Given the description of an element on the screen output the (x, y) to click on. 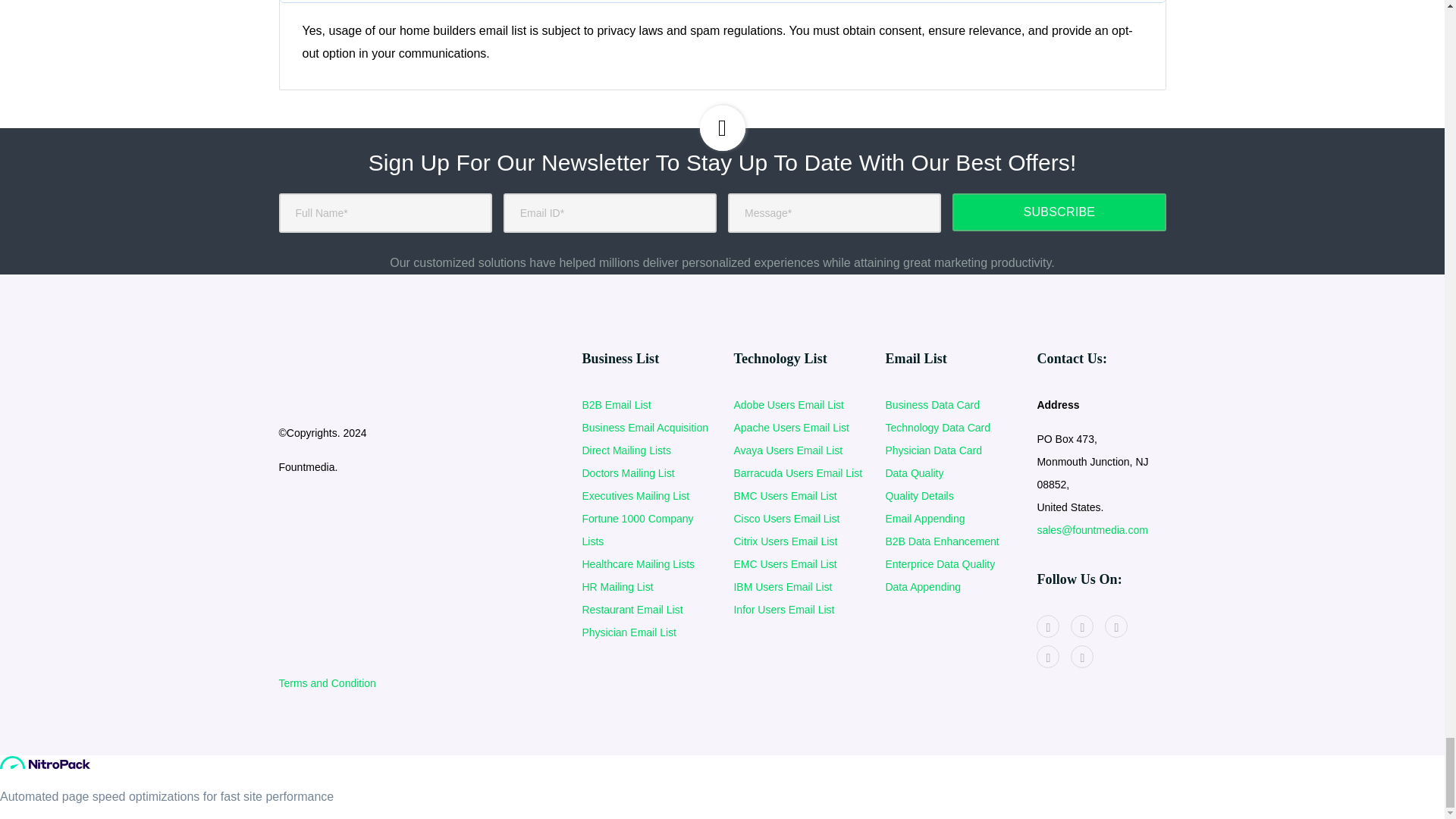
DMCA.com Protection Status (336, 520)
pinterest (1115, 626)
facebook (1047, 626)
SUBSCRIBE (1059, 211)
youtube (1081, 626)
